Given the description of an element on the screen output the (x, y) to click on. 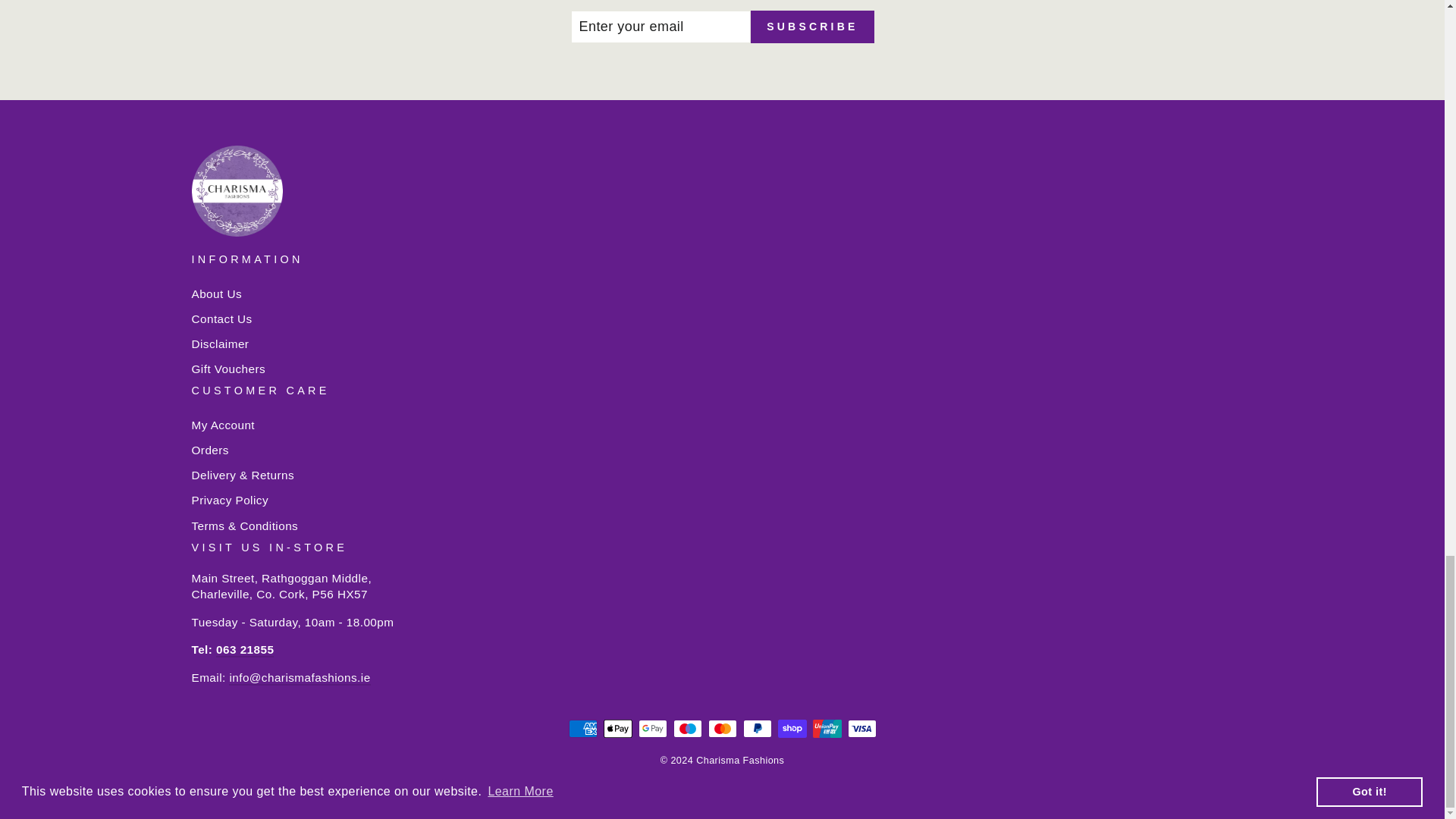
Apple Pay (617, 728)
Google Pay (652, 728)
Mastercard (721, 728)
PayPal (756, 728)
Maestro (686, 728)
American Express (582, 728)
